Given the description of an element on the screen output the (x, y) to click on. 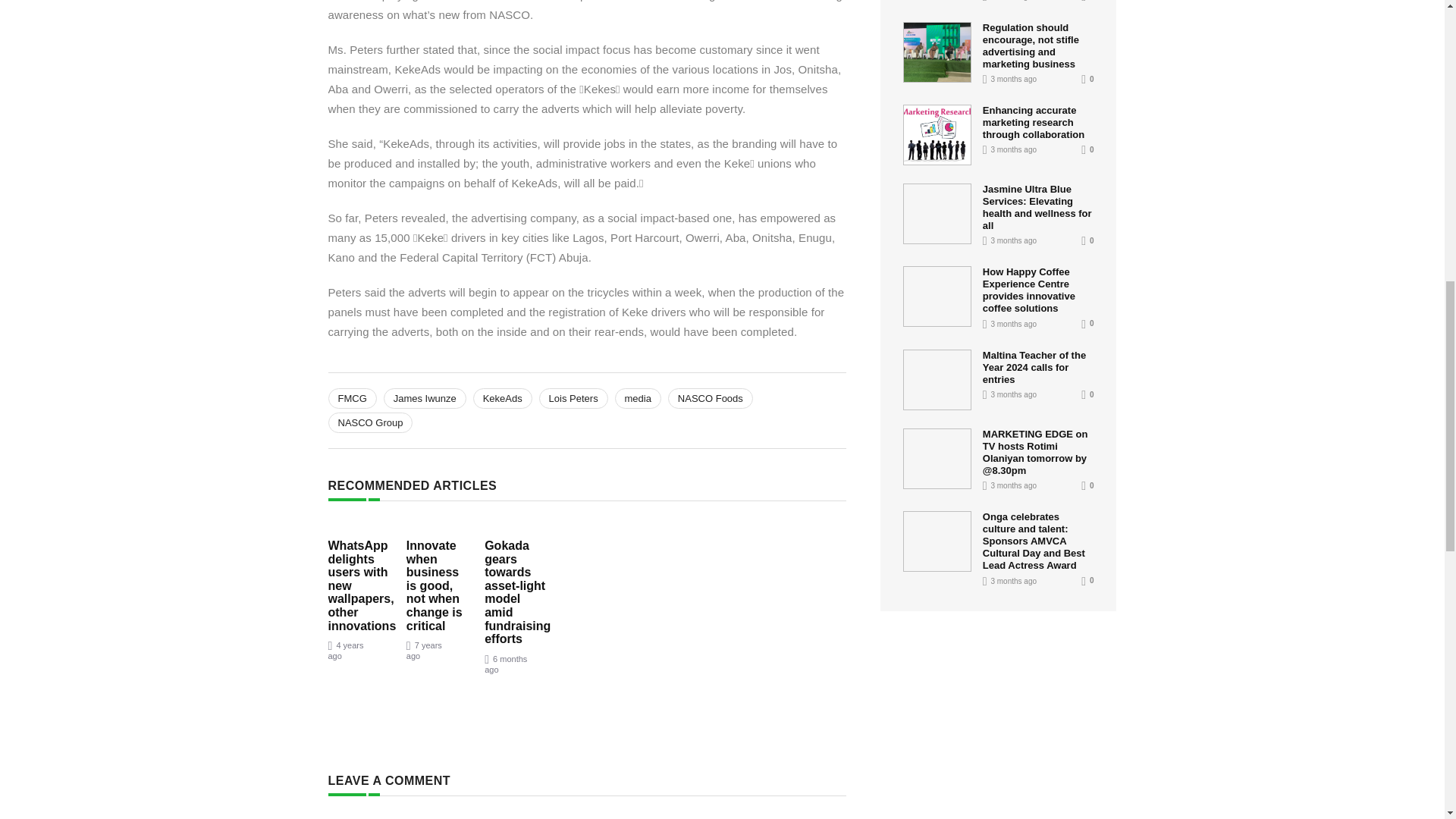
media (637, 398)
FMCG (351, 398)
KekeAds (502, 398)
FMCG (351, 398)
Lois Peters (573, 398)
NASCO Group (369, 422)
James Iwunze (424, 398)
Lois Peters (573, 398)
KekeAds (502, 398)
James Iwunze (424, 398)
